Given the description of an element on the screen output the (x, y) to click on. 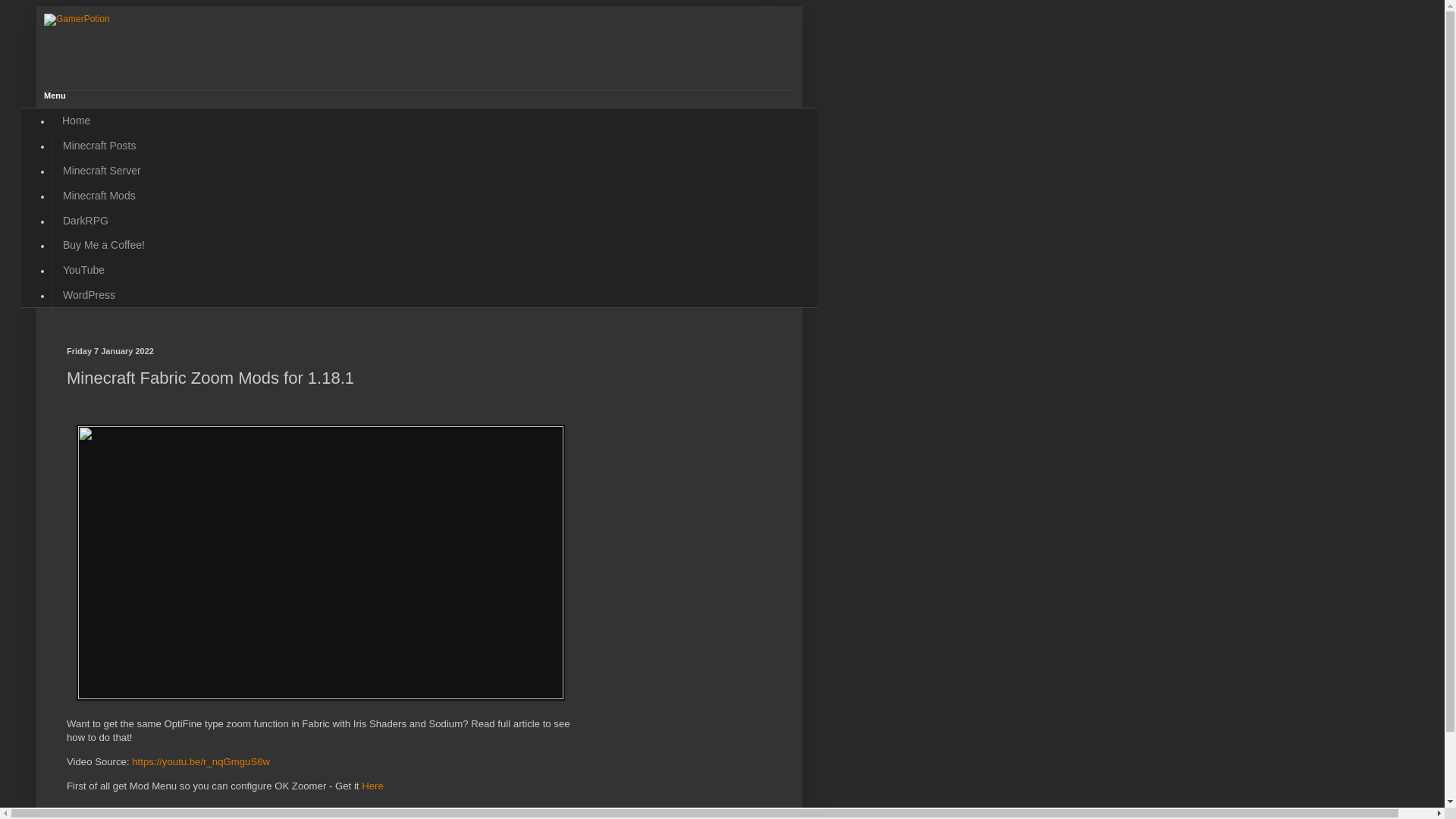
Minecraft Server (100, 170)
Home (75, 120)
Buy Me a Coffee! (102, 244)
Minecraft Posts (98, 145)
DarkRPG (84, 220)
Here (372, 785)
WordPress (87, 294)
YouTube (82, 269)
Minecraft Mods (98, 195)
